Given the description of an element on the screen output the (x, y) to click on. 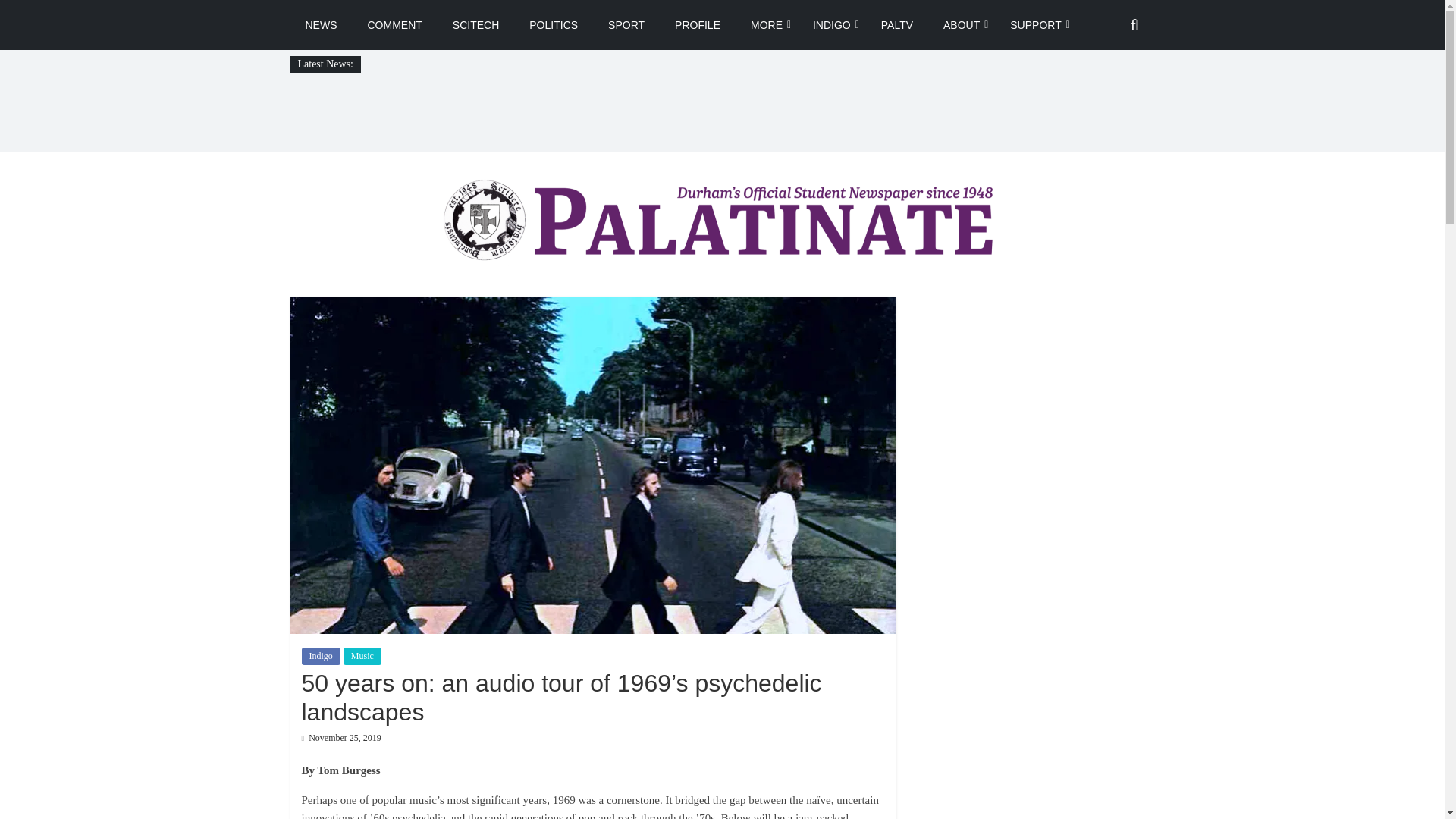
SPORT (625, 24)
SCITECH (475, 24)
NEWS (320, 24)
COMMENT (394, 24)
INDIGO (831, 24)
ABOUT (961, 24)
MORE (766, 24)
SUPPORT (1034, 24)
PROFILE (697, 24)
POLITICS (552, 24)
